Given the description of an element on the screen output the (x, y) to click on. 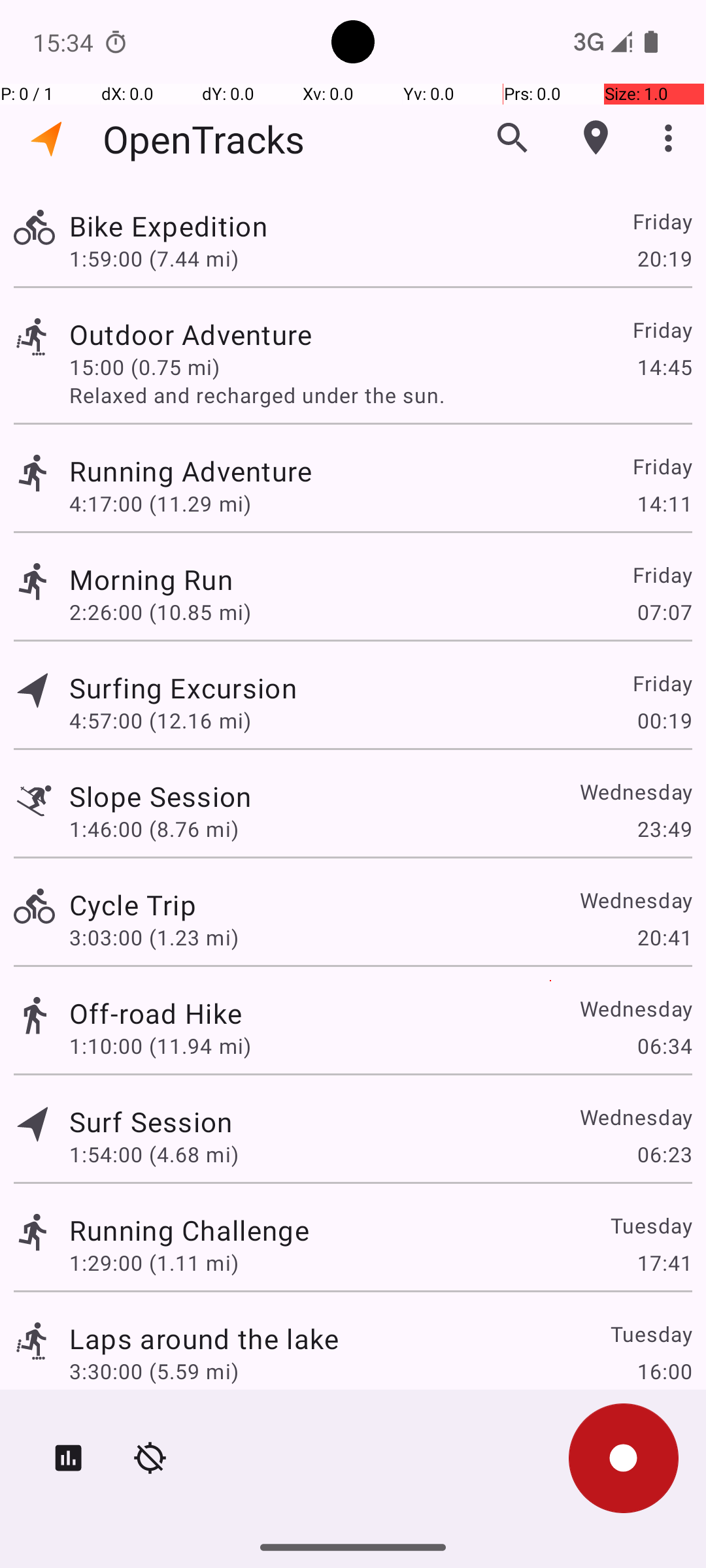
Bike Expedition Element type: android.widget.TextView (168, 225)
1:59:00 (7.44 mi) Element type: android.widget.TextView (153, 258)
20:19 Element type: android.widget.TextView (664, 258)
15:00 (0.75 mi) Element type: android.widget.TextView (144, 366)
14:45 Element type: android.widget.TextView (664, 366)
Relaxed and recharged under the sun. Element type: android.widget.TextView (380, 394)
Running Adventure Element type: android.widget.TextView (190, 470)
4:17:00 (11.29 mi) Element type: android.widget.TextView (159, 503)
14:11 Element type: android.widget.TextView (664, 503)
Morning Run Element type: android.widget.TextView (150, 578)
2:26:00 (10.85 mi) Element type: android.widget.TextView (159, 611)
07:07 Element type: android.widget.TextView (664, 611)
Surfing Excursion Element type: android.widget.TextView (182, 687)
4:57:00 (12.16 mi) Element type: android.widget.TextView (159, 720)
00:19 Element type: android.widget.TextView (664, 720)
Slope Session Element type: android.widget.TextView (160, 795)
1:46:00 (8.76 mi) Element type: android.widget.TextView (153, 828)
23:49 Element type: android.widget.TextView (664, 828)
3:03:00 (1.23 mi) Element type: android.widget.TextView (153, 937)
20:41 Element type: android.widget.TextView (664, 937)
Off-road Hike Element type: android.widget.TextView (155, 1012)
1:10:00 (11.94 mi) Element type: android.widget.TextView (159, 1045)
06:34 Element type: android.widget.TextView (664, 1045)
Surf Session Element type: android.widget.TextView (150, 1121)
1:54:00 (4.68 mi) Element type: android.widget.TextView (153, 1154)
06:23 Element type: android.widget.TextView (664, 1154)
Running Challenge Element type: android.widget.TextView (188, 1229)
1:29:00 (1.11 mi) Element type: android.widget.TextView (153, 1262)
17:41 Element type: android.widget.TextView (664, 1262)
Laps around the lake Element type: android.widget.TextView (203, 1337)
3:30:00 (5.59 mi) Element type: android.widget.TextView (153, 1370)
Found joy in the downpour. Element type: android.widget.TextView (380, 1399)
